Given the description of an element on the screen output the (x, y) to click on. 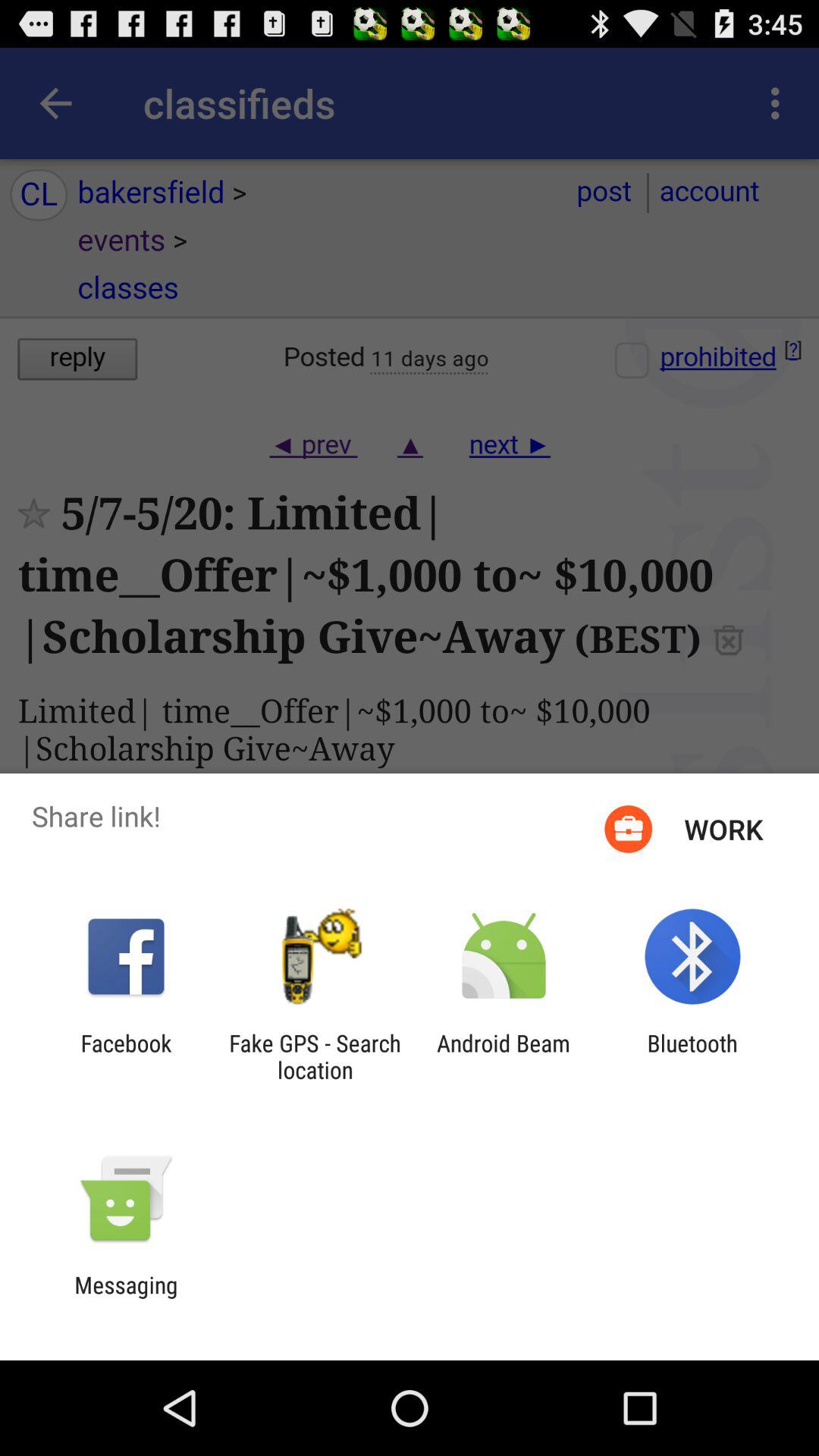
tap the android beam (503, 1056)
